Given the description of an element on the screen output the (x, y) to click on. 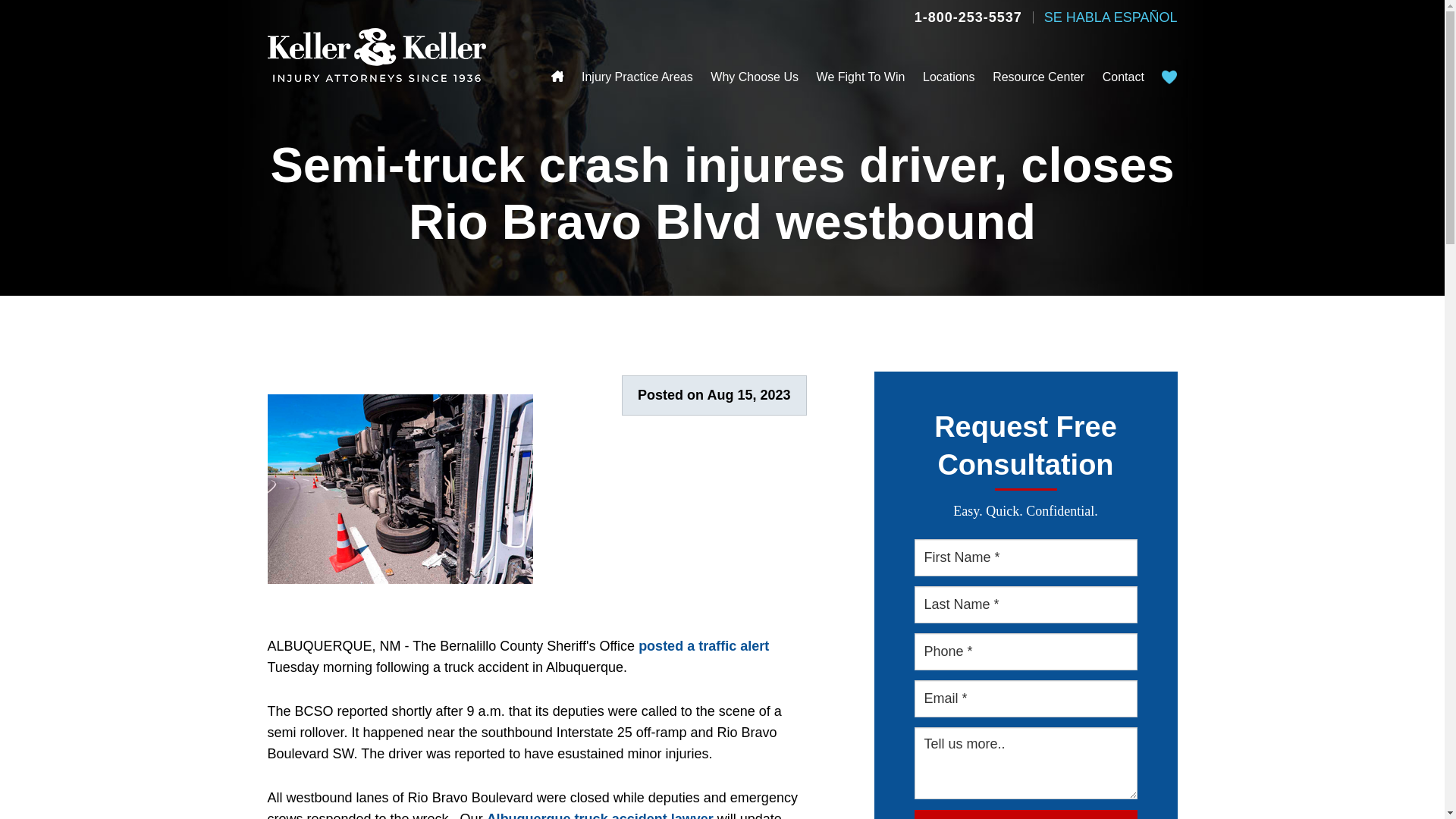
Why Choose Us (753, 77)
Locations (949, 77)
1-800-253-5537 (968, 17)
We Fight To Win (860, 77)
Injury Practice Areas (636, 77)
